Given the description of an element on the screen output the (x, y) to click on. 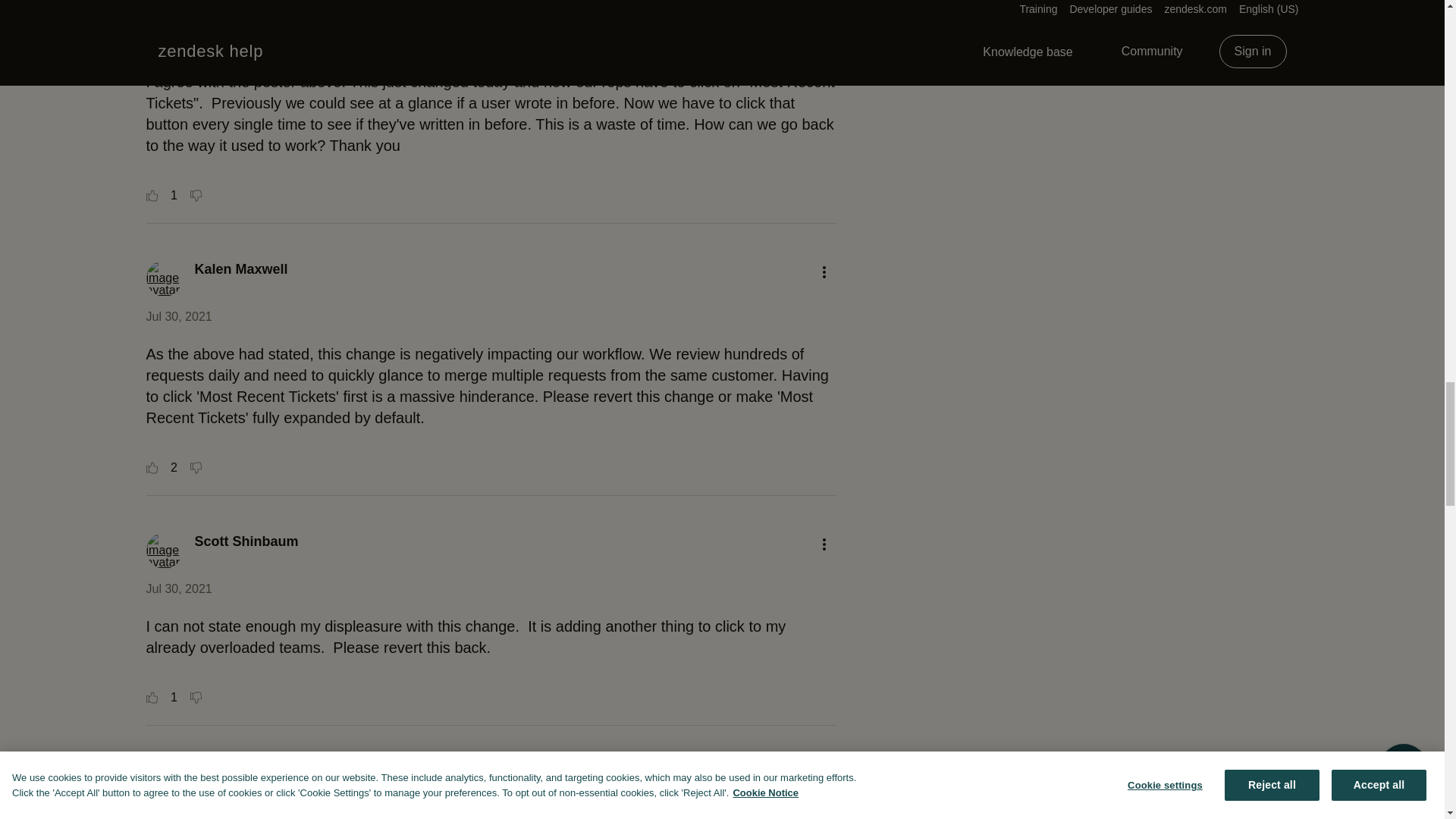
Jul 30, 2021 (178, 815)
Jul 30, 2021 (178, 588)
Jul 30, 2021 (178, 43)
Jul 30, 2021 (178, 316)
